Given the description of an element on the screen output the (x, y) to click on. 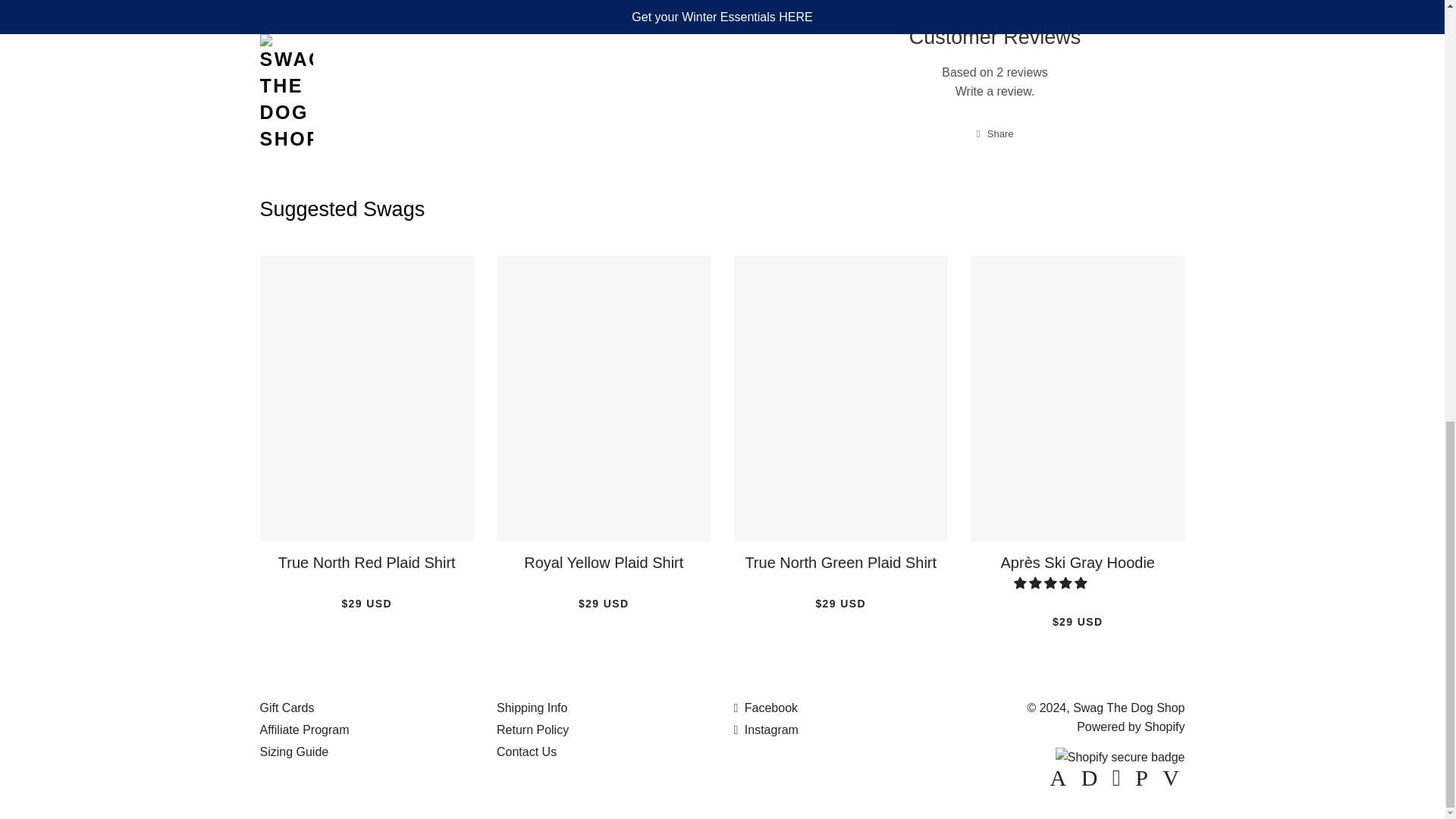
Share on Facebook (995, 133)
Swag The Dog Shop on Instagram (765, 729)
This online store is secured by Shopify (1120, 757)
Swag The Dog Shop on Facebook (765, 707)
